Given the description of an element on the screen output the (x, y) to click on. 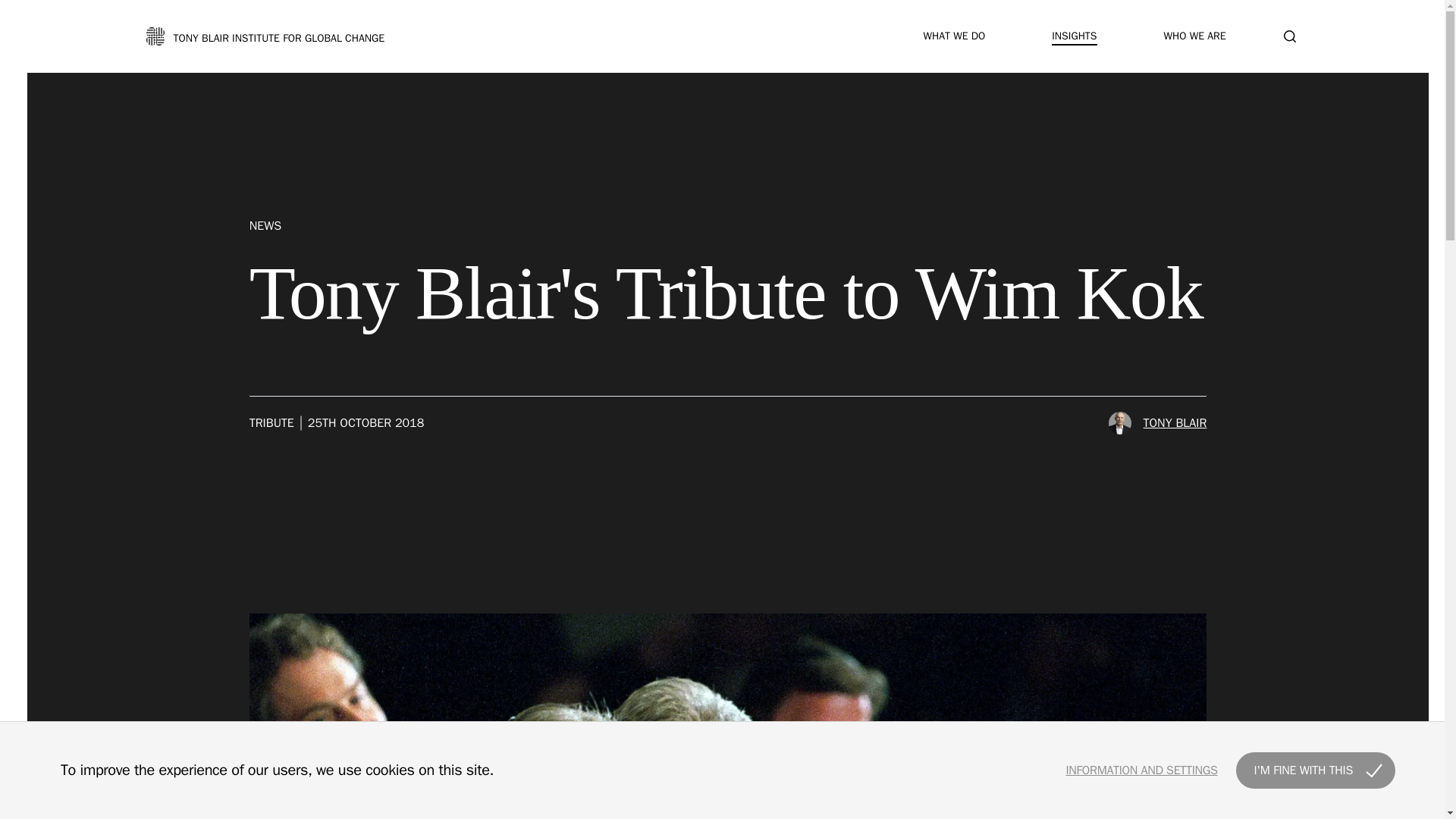
TONY BLAIR (1157, 422)
Information and Settings (1141, 770)
TONY BLAIR INSTITUTE FOR GLOBAL CHANGE (264, 36)
INSIGHTS (1073, 35)
INSIGHTS (1073, 35)
NEWS (727, 234)
I'm fine with this (1315, 770)
